Given the description of an element on the screen output the (x, y) to click on. 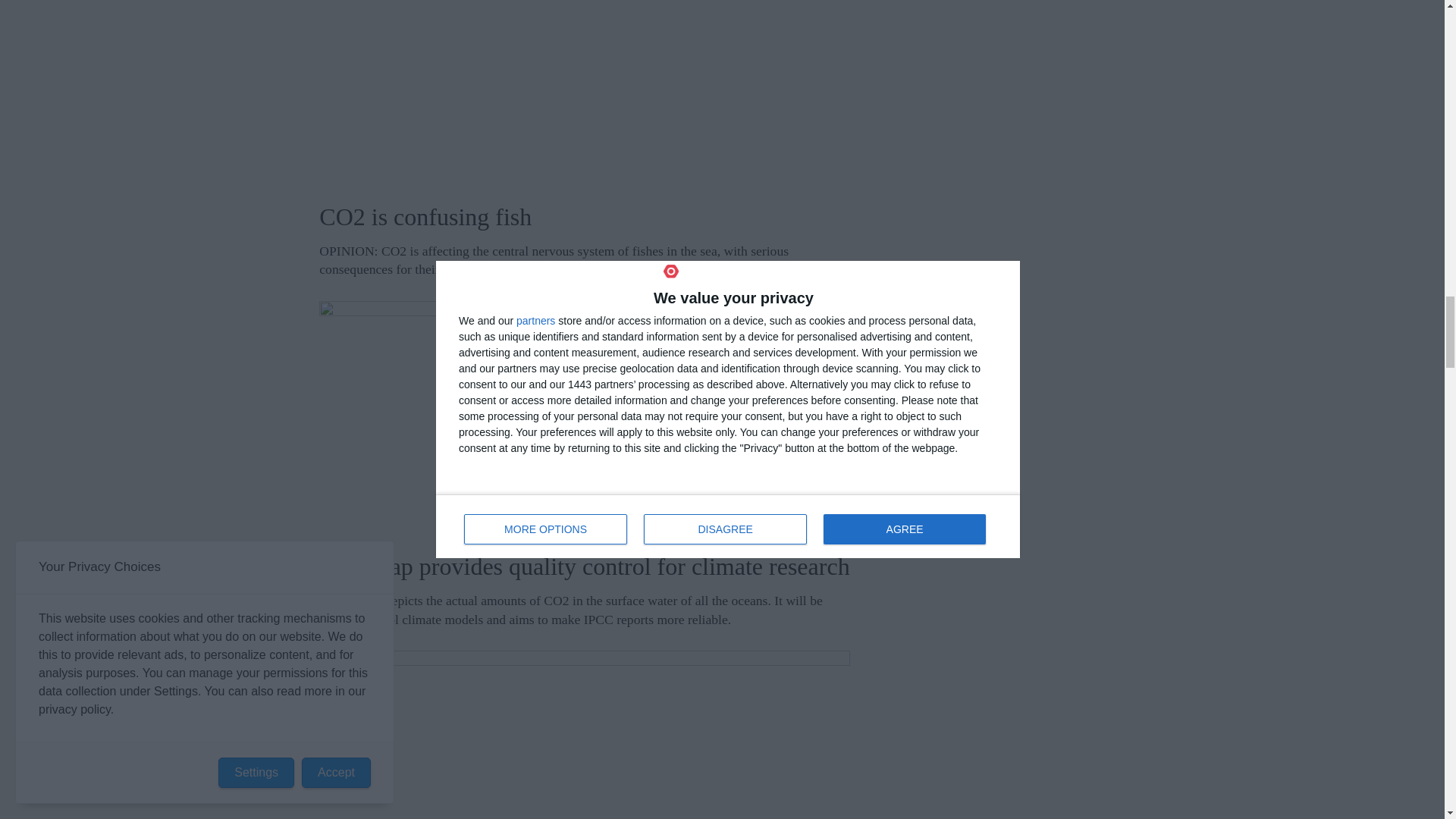
CO2 is confusing fish (584, 95)
CO2 map provides quality control for climate research (584, 420)
New method measures CO2 production of sub-seabed bacteria (584, 734)
